Given the description of an element on the screen output the (x, y) to click on. 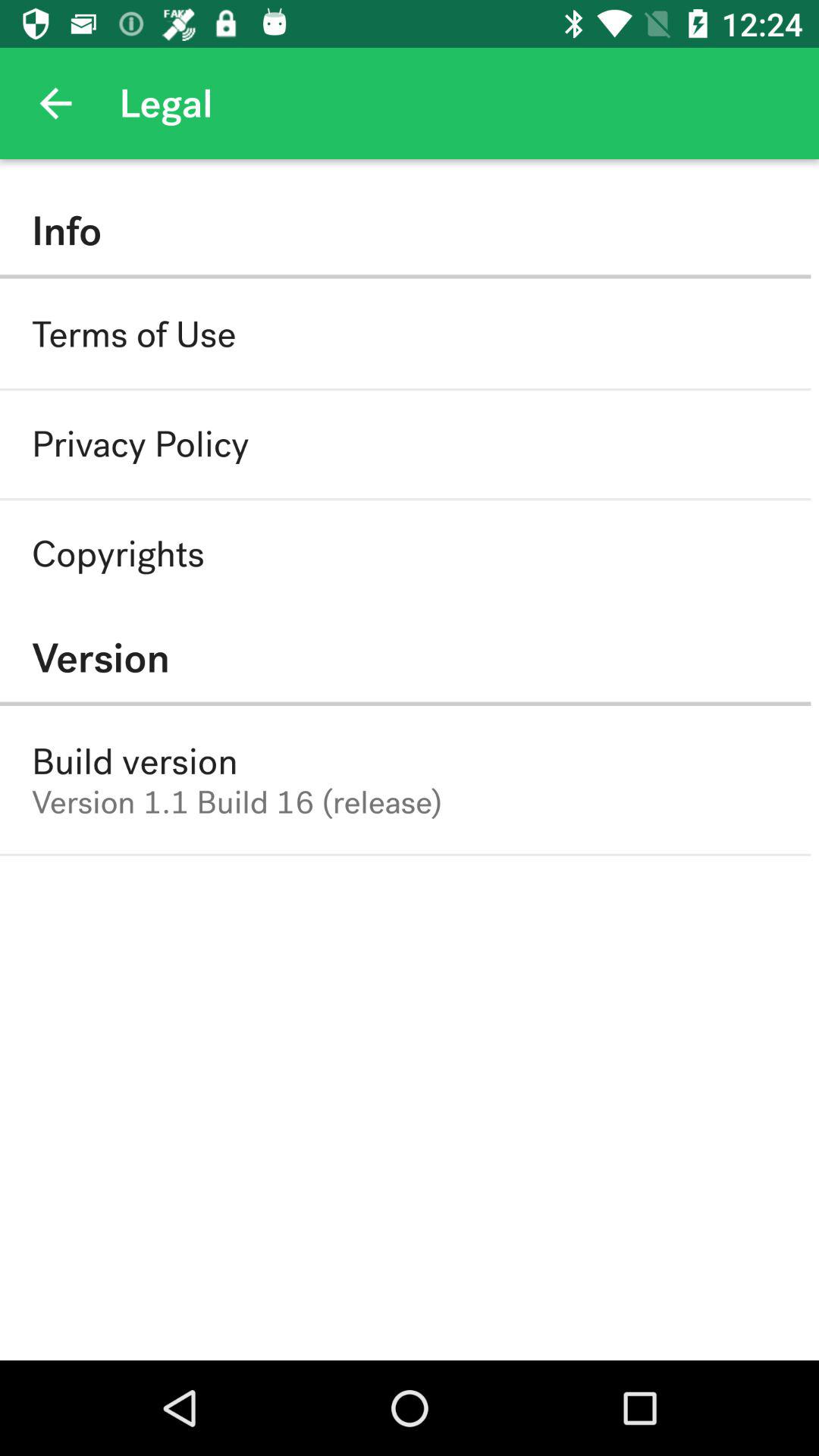
jump until the info (405, 230)
